Given the description of an element on the screen output the (x, y) to click on. 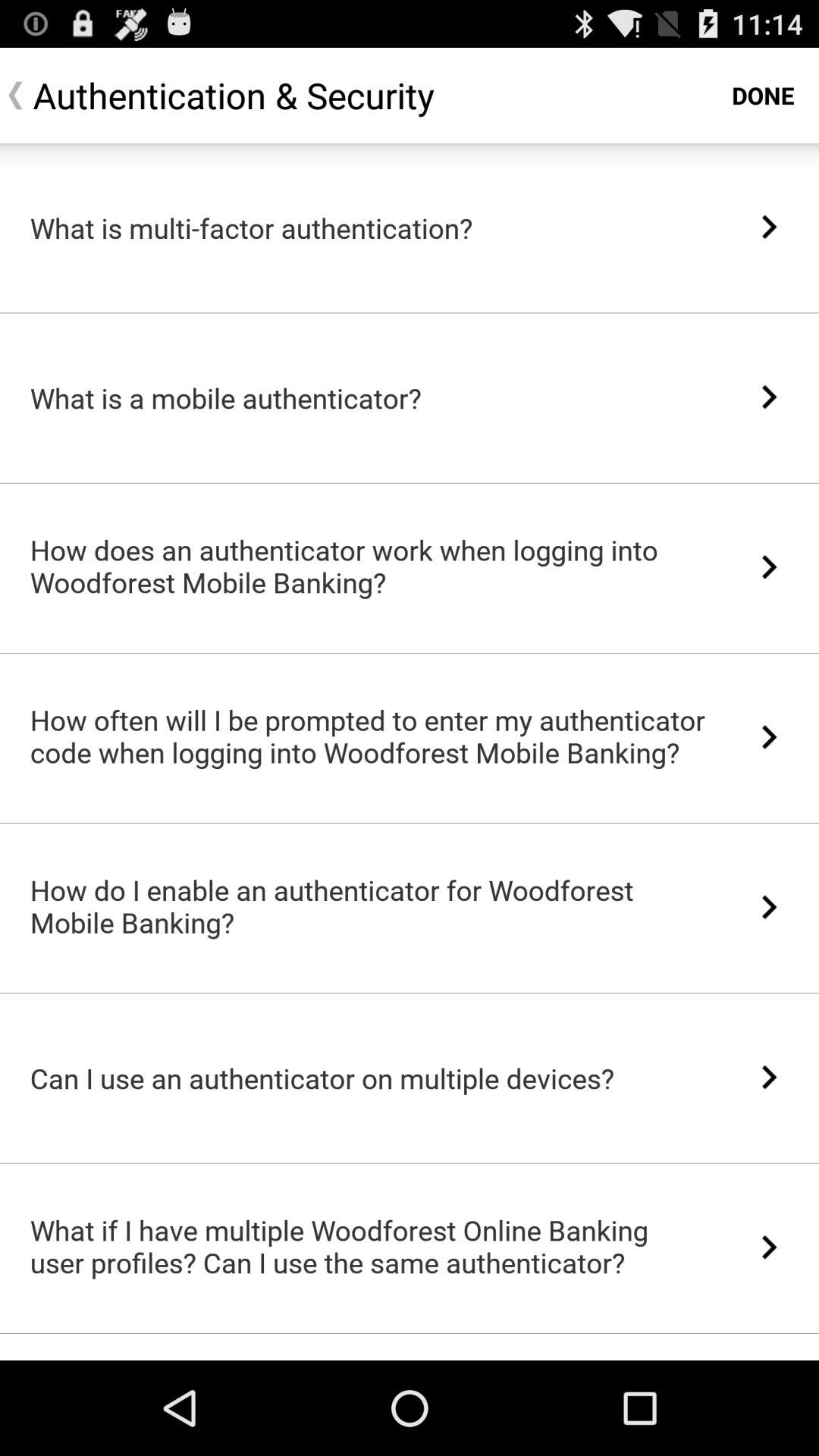
press item next to the how do i item (768, 907)
